Given the description of an element on the screen output the (x, y) to click on. 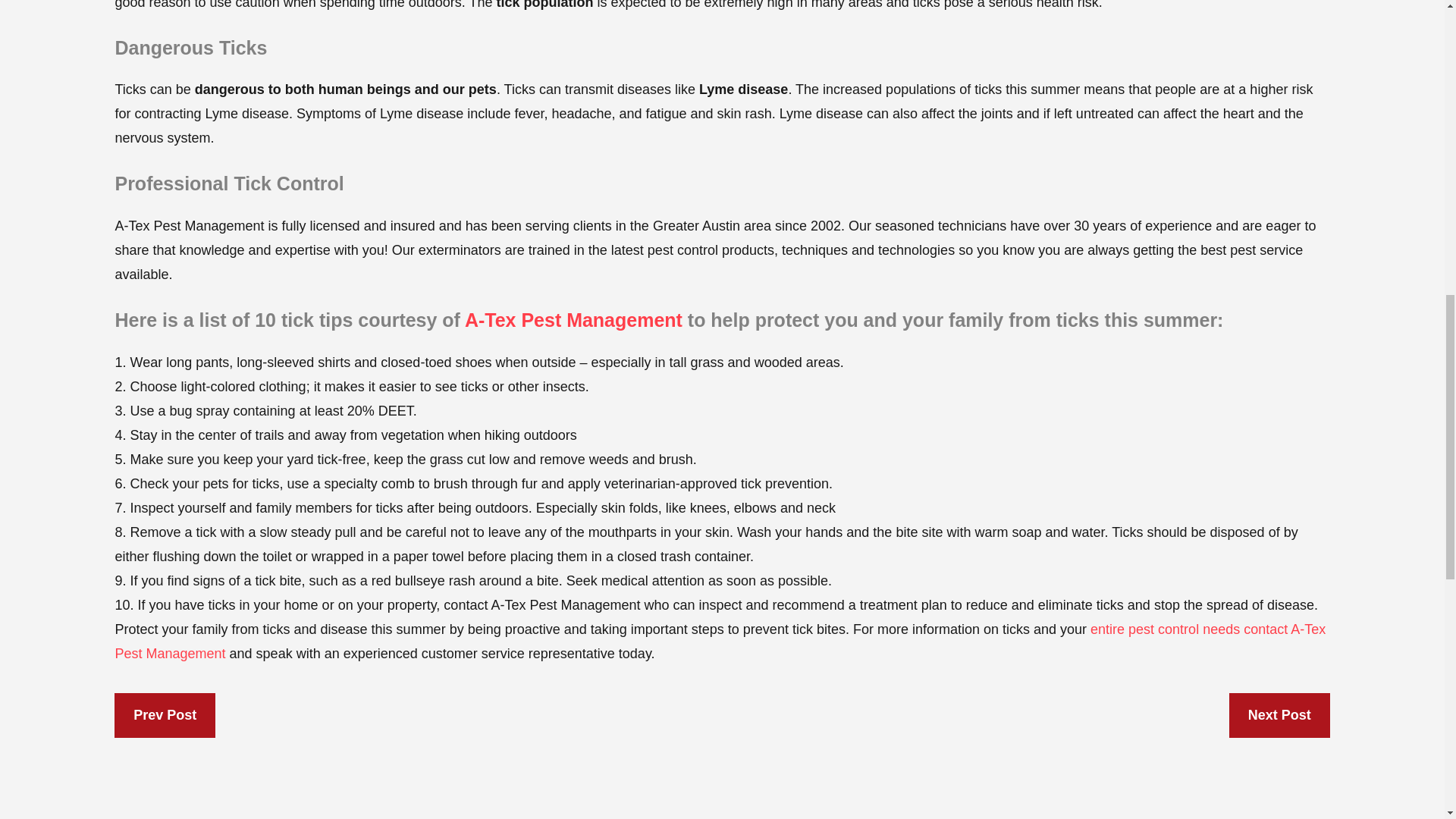
CONTACT US (719, 640)
ABOUT US (573, 319)
OUR SERVICES (1165, 629)
